Given the description of an element on the screen output the (x, y) to click on. 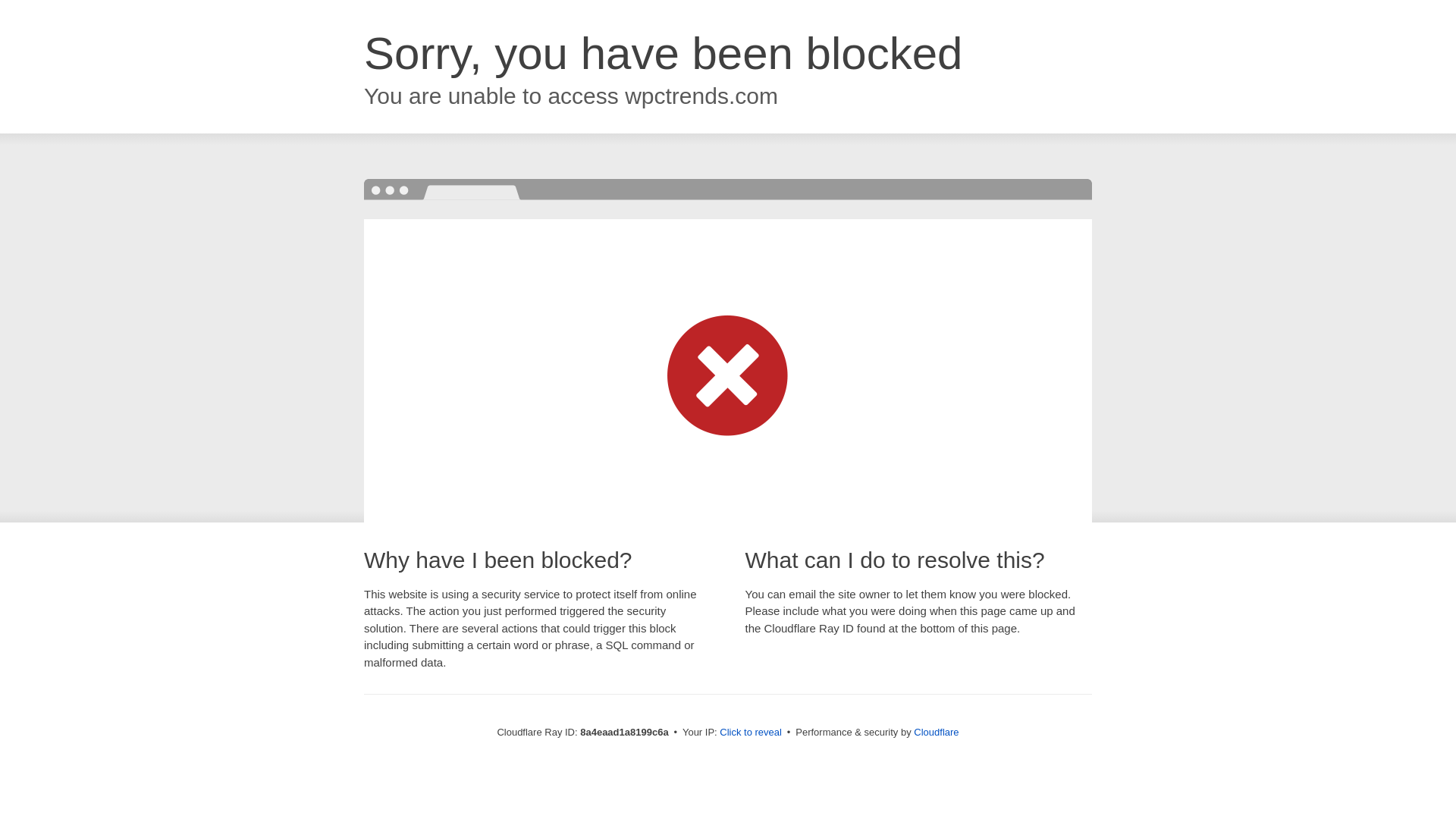
Cloudflare (936, 731)
Click to reveal (750, 732)
